Given the description of an element on the screen output the (x, y) to click on. 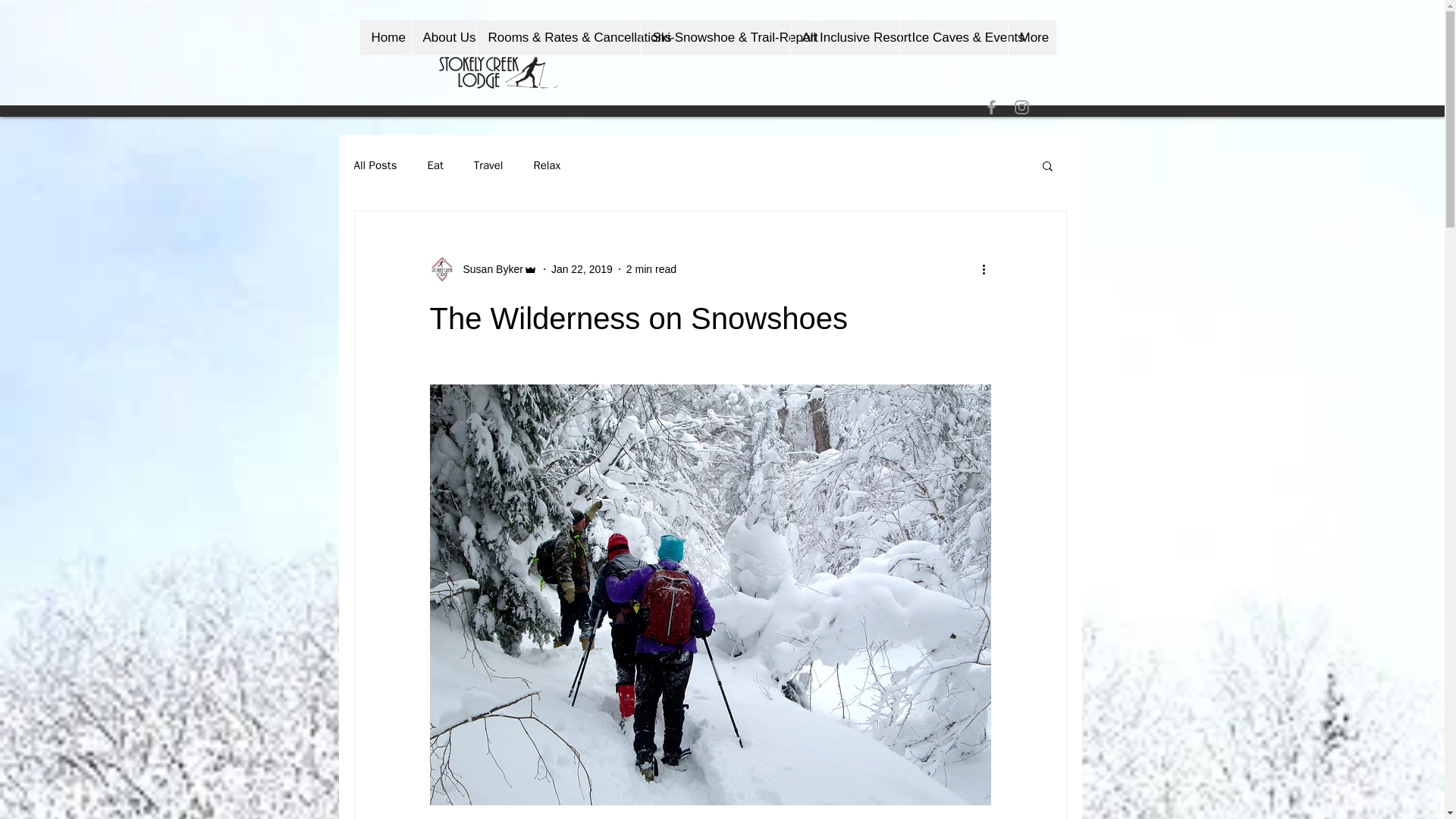
Travel (488, 164)
2 min read (651, 268)
Susan Byker (487, 268)
About Us (443, 37)
Susan Byker (483, 269)
Relax (546, 164)
Eat (434, 164)
Jan 22, 2019 (581, 268)
Home (384, 37)
All Inclusive Resort (844, 37)
